Given the description of an element on the screen output the (x, y) to click on. 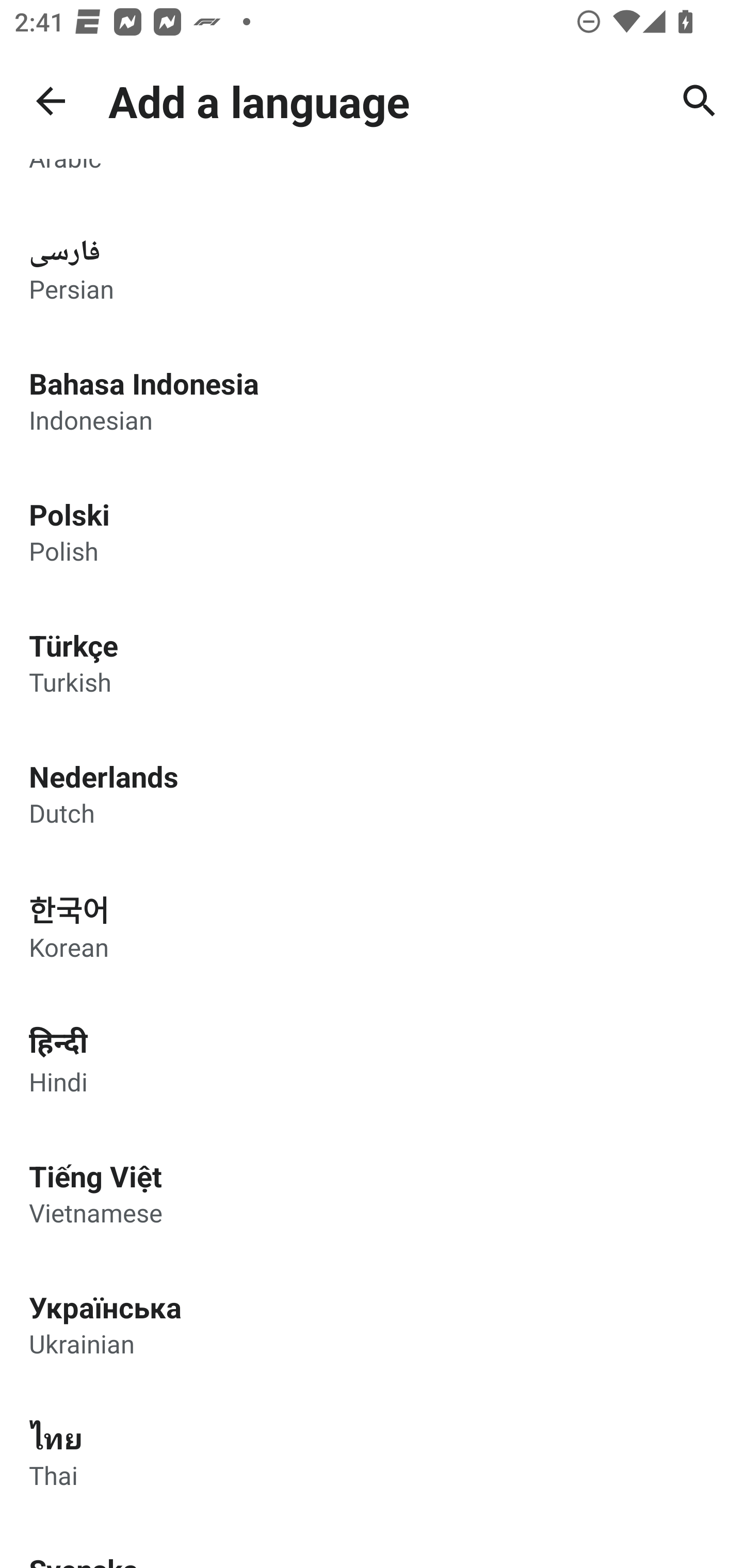
Navigate up (50, 101)
Search for a language (699, 101)
فارسی Persian (371, 268)
Bahasa Indonesia Indonesian (371, 399)
Polski Polish (371, 531)
Türkçe Turkish (371, 662)
Nederlands Dutch (371, 793)
한국어 Korean (371, 925)
हिन्दी Hindi (371, 1059)
Tiếng Việt Vietnamese (371, 1193)
Українська Ukrainian (371, 1324)
ไทย Thai (371, 1454)
